Given the description of an element on the screen output the (x, y) to click on. 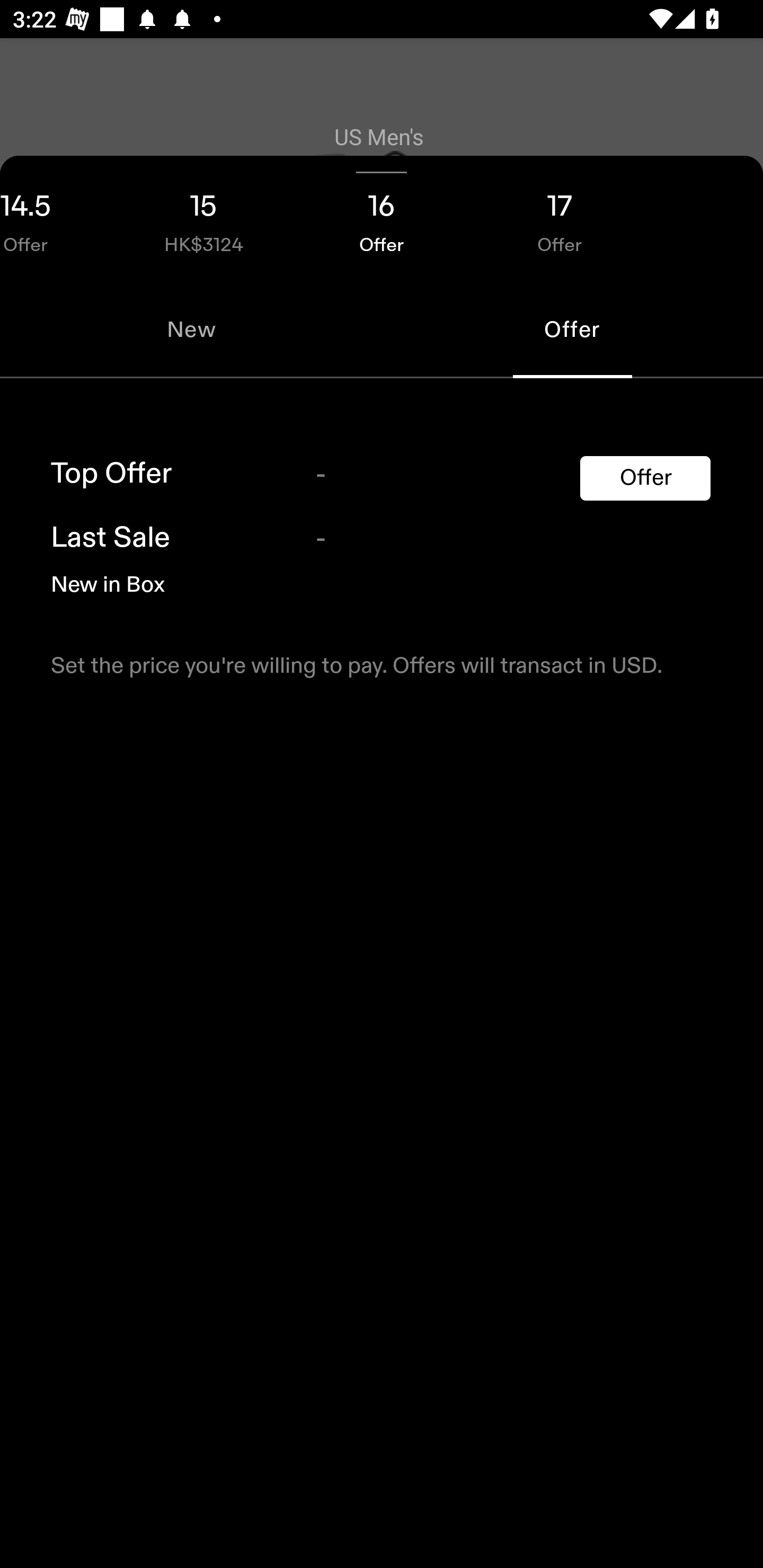
14.5 Offer (57, 218)
15 HK$3124 (203, 218)
16 Offer (381, 218)
17 Offer (559, 218)
New (190, 329)
Offer (644, 477)
